Given the description of an element on the screen output the (x, y) to click on. 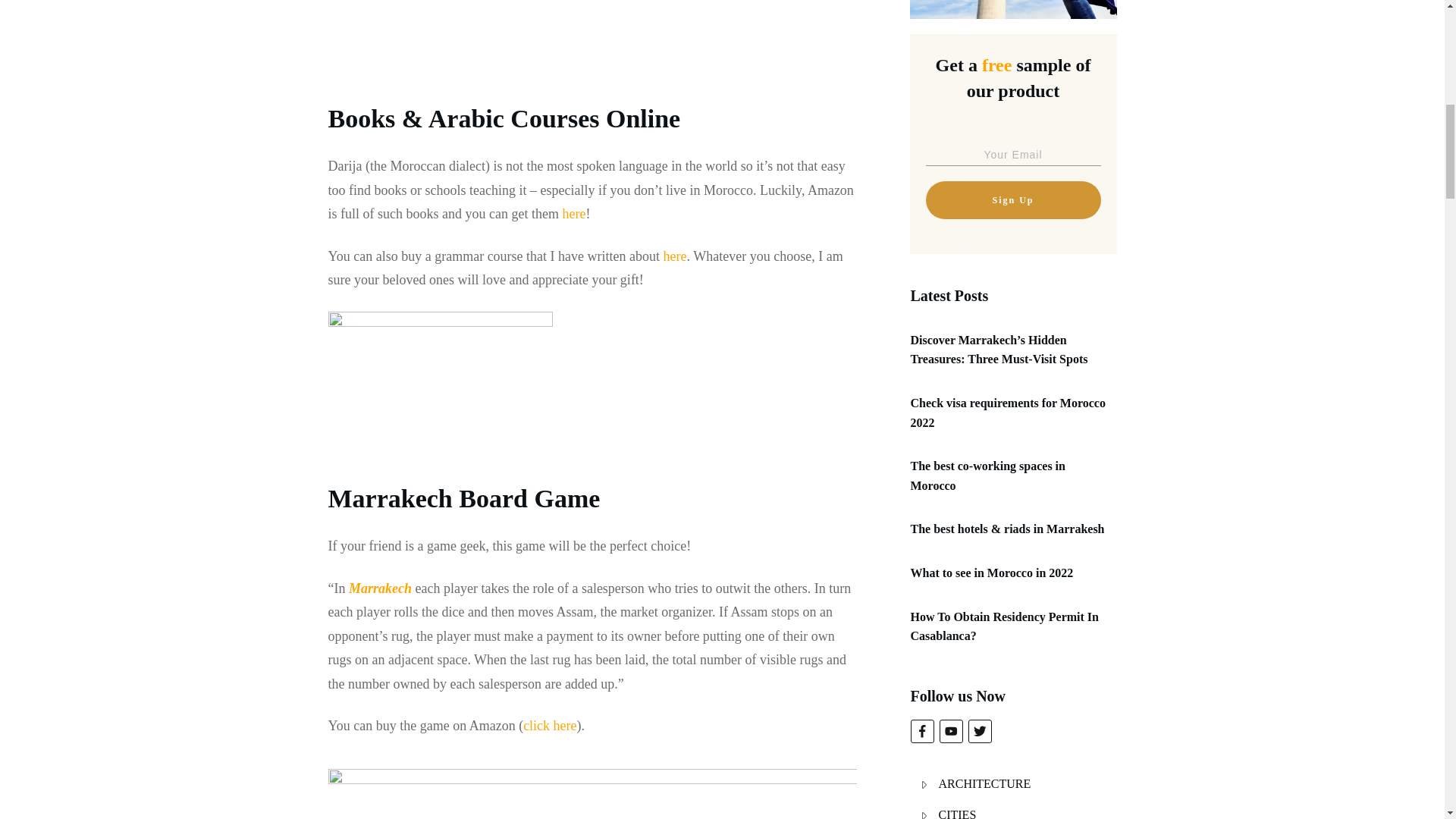
here (675, 255)
What to see in Morocco in 2022 (991, 572)
The best co-working spaces in Morocco (987, 475)
Marrakech (381, 588)
here (573, 213)
click here (549, 725)
Advertisement (448, 38)
Check visa requirements for Morocco 2022 (1007, 412)
How To Obtain Residency Permit In Casablanca? (1003, 625)
